Given the description of an element on the screen output the (x, y) to click on. 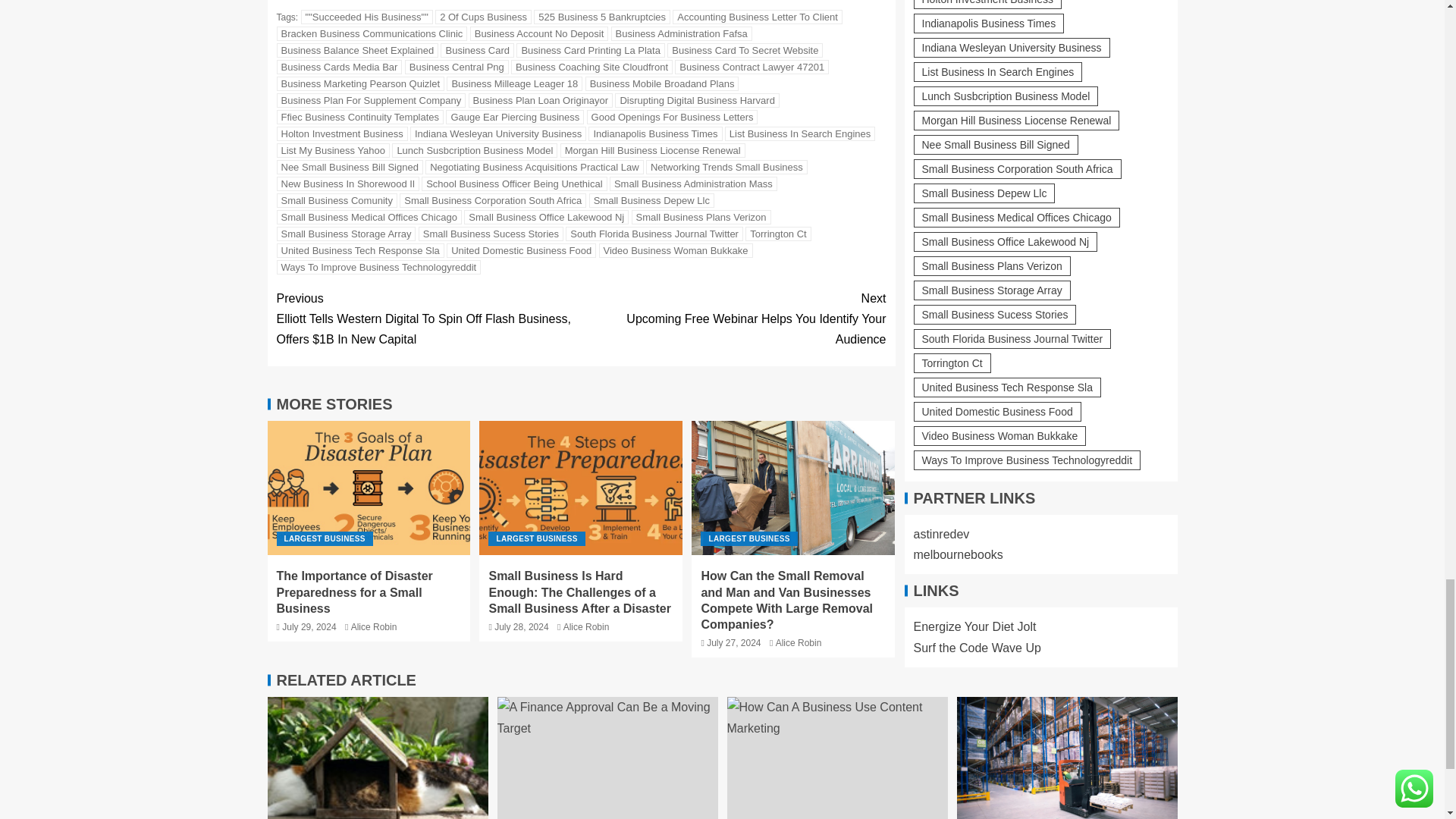
""Succeeded His Business"" (366, 16)
2 Of Cups Business (483, 16)
Business Central Png (456, 66)
Key to Better Industrial Storage with Racking in Singapore (1066, 757)
Accounting Business Letter To Client (757, 16)
525 Business 5 Bankruptcies (601, 16)
Business Administration Fafsa (681, 33)
A Finance Approval Can Be a Moving Target (607, 757)
